Given the description of an element on the screen output the (x, y) to click on. 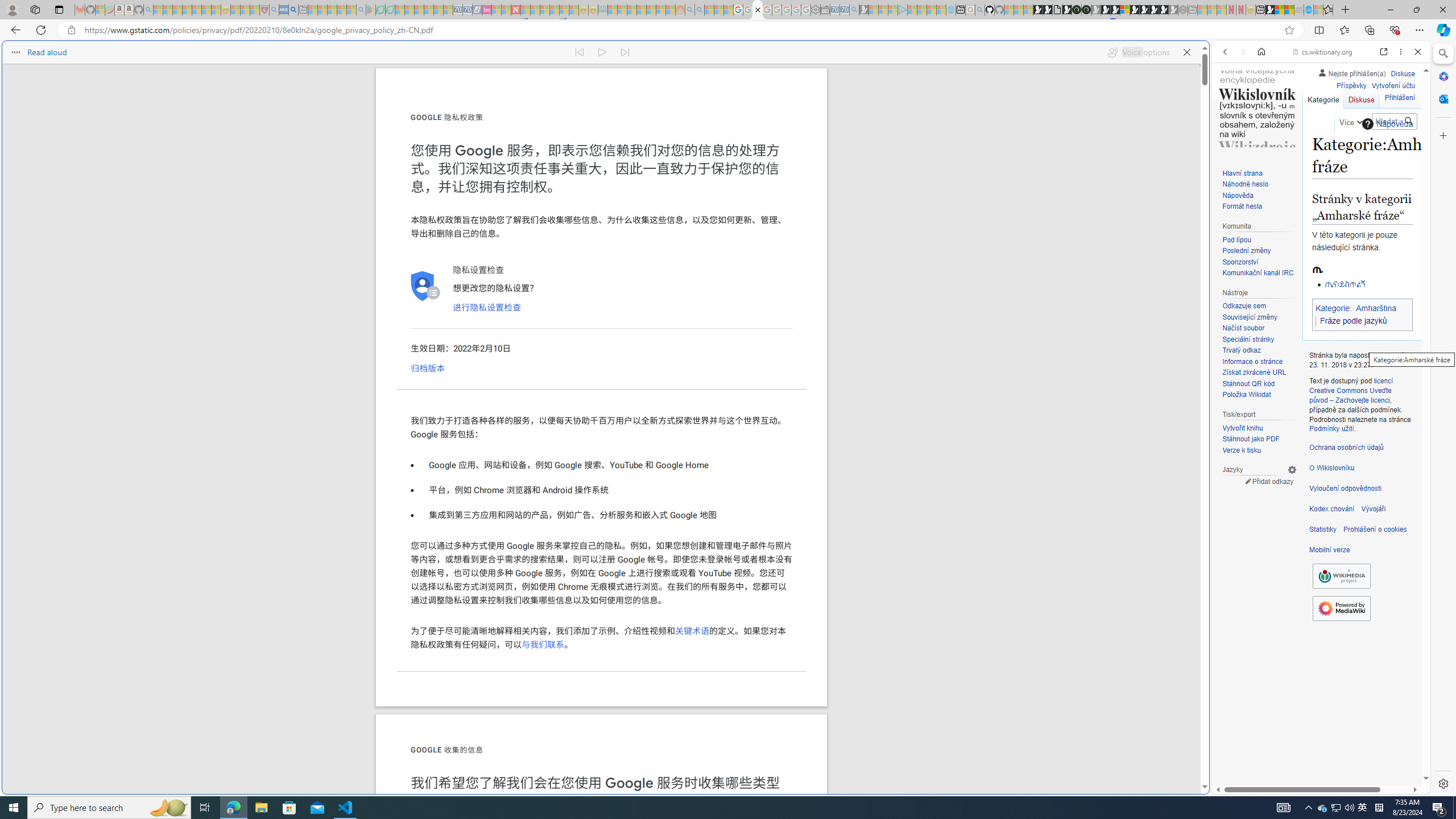
Actions for this site (1370, 583)
Play Cave FRVR in your browser | Games from Microsoft Start (922, 242)
Tabs you've opened (885, 151)
Search or enter web address (922, 108)
Forward (1242, 51)
Class: b_serphb (1404, 130)
Global web icon (1232, 786)
Kategorie (1323, 96)
Read next paragraph (624, 52)
